Given the description of an element on the screen output the (x, y) to click on. 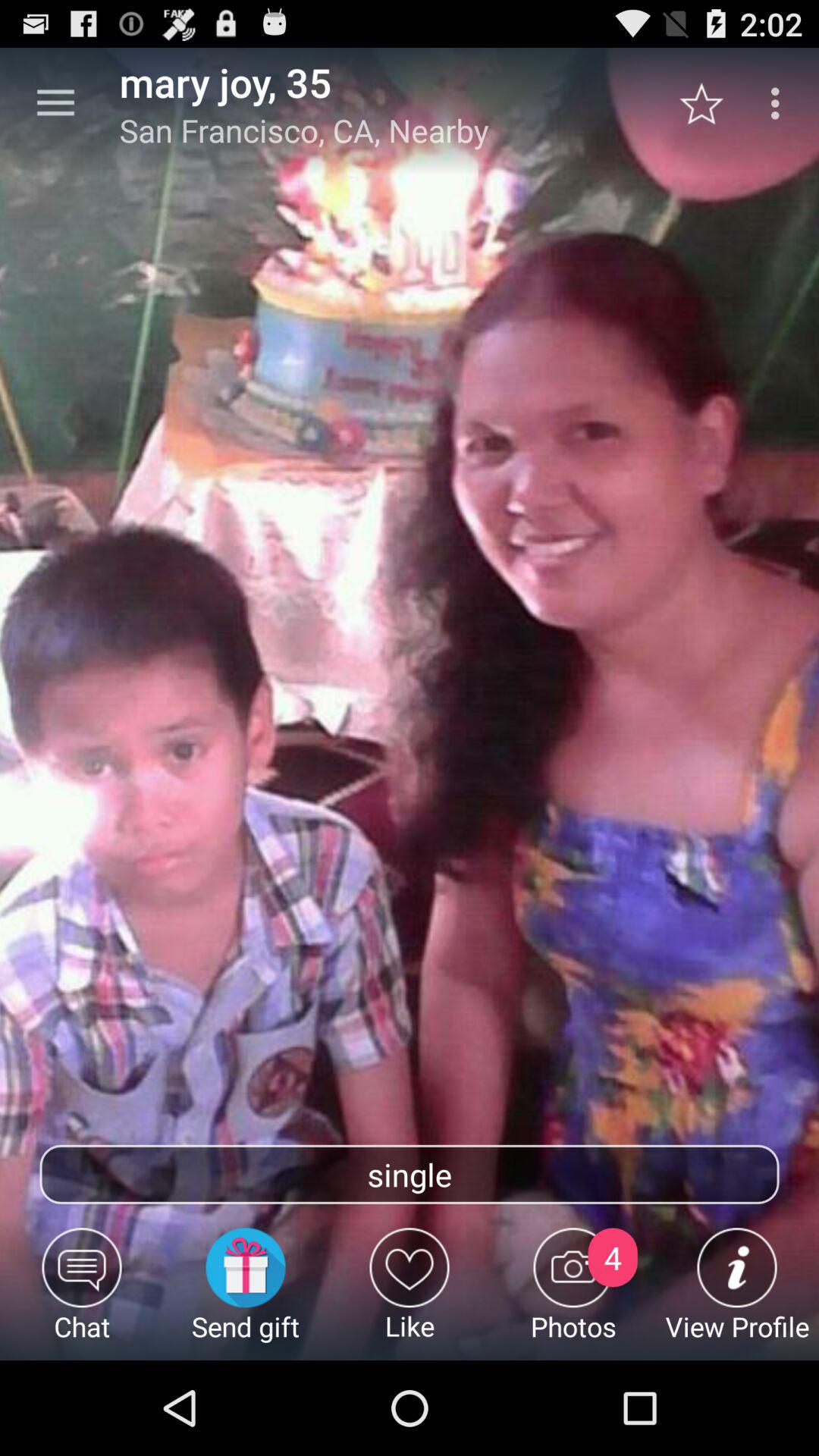
jump to the send gift icon (245, 1293)
